Given the description of an element on the screen output the (x, y) to click on. 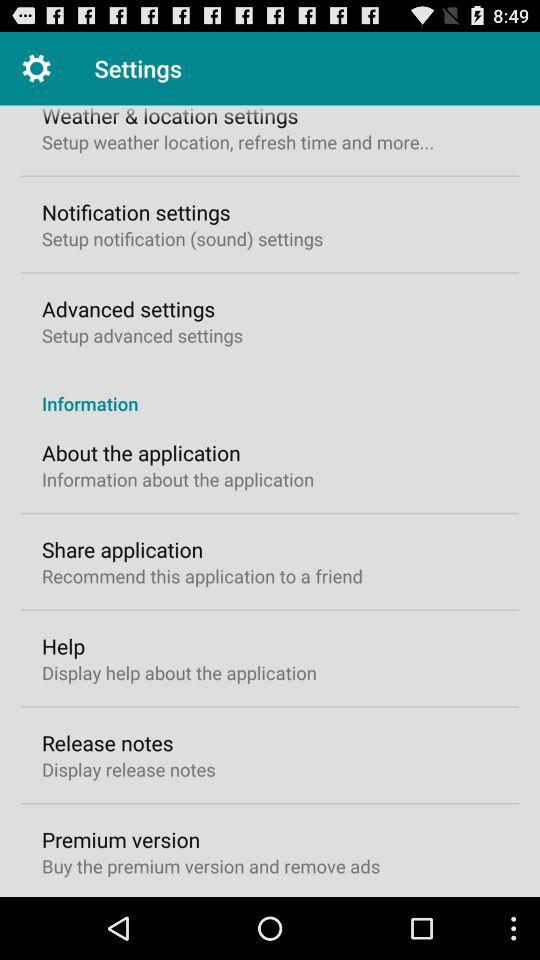
open the display help about item (179, 672)
